Given the description of an element on the screen output the (x, y) to click on. 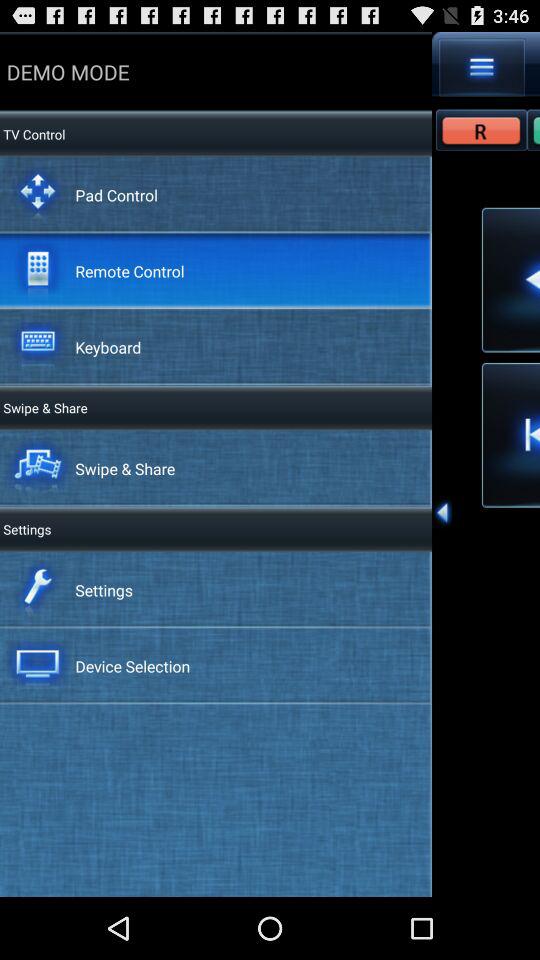
scroll to the  tv control item (32, 133)
